Given the description of an element on the screen output the (x, y) to click on. 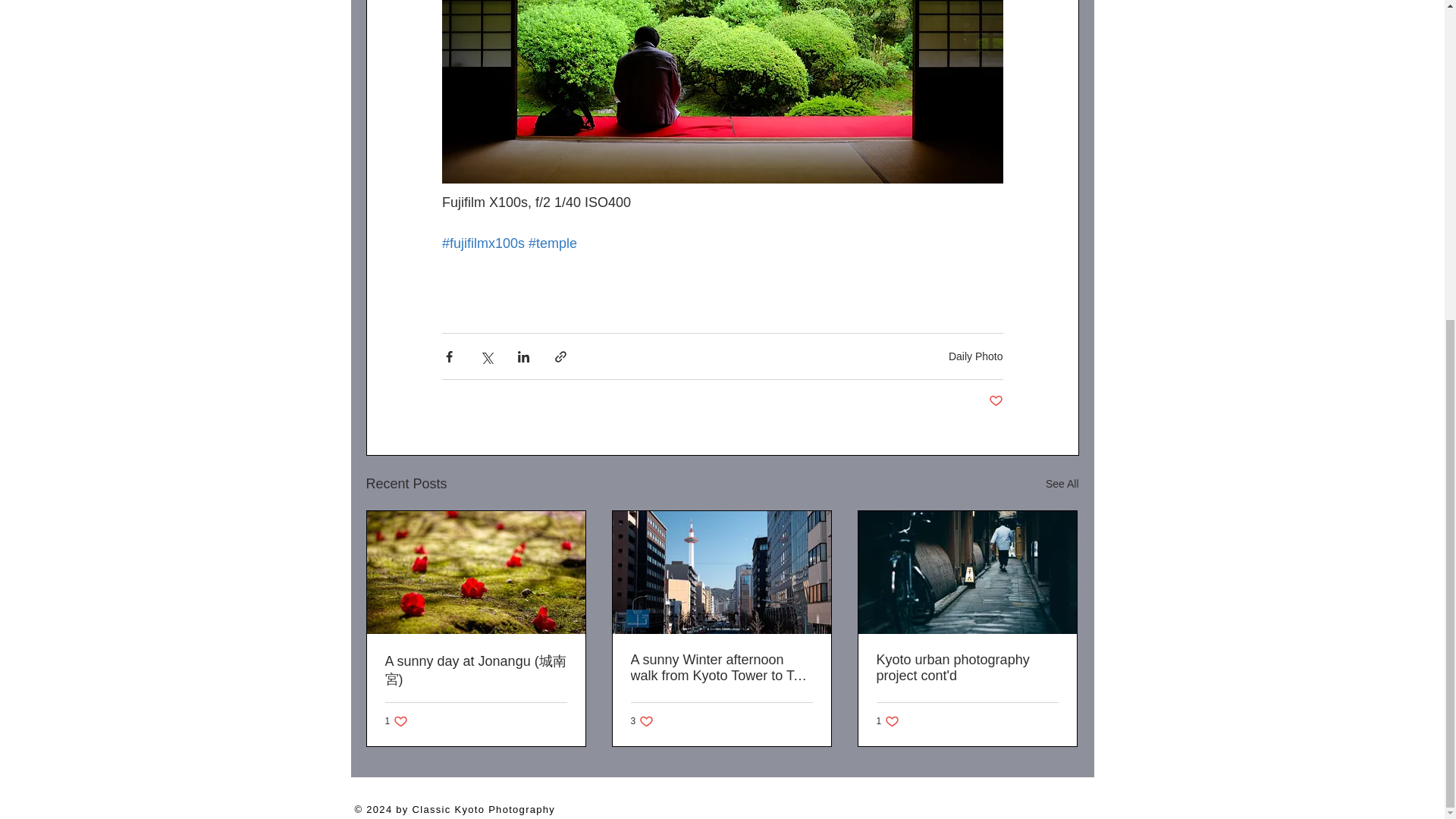
Kyoto urban photography project cont'd (967, 667)
See All (397, 721)
Daily Photo (1061, 484)
Post not marked as liked (976, 356)
